Given the description of an element on the screen output the (x, y) to click on. 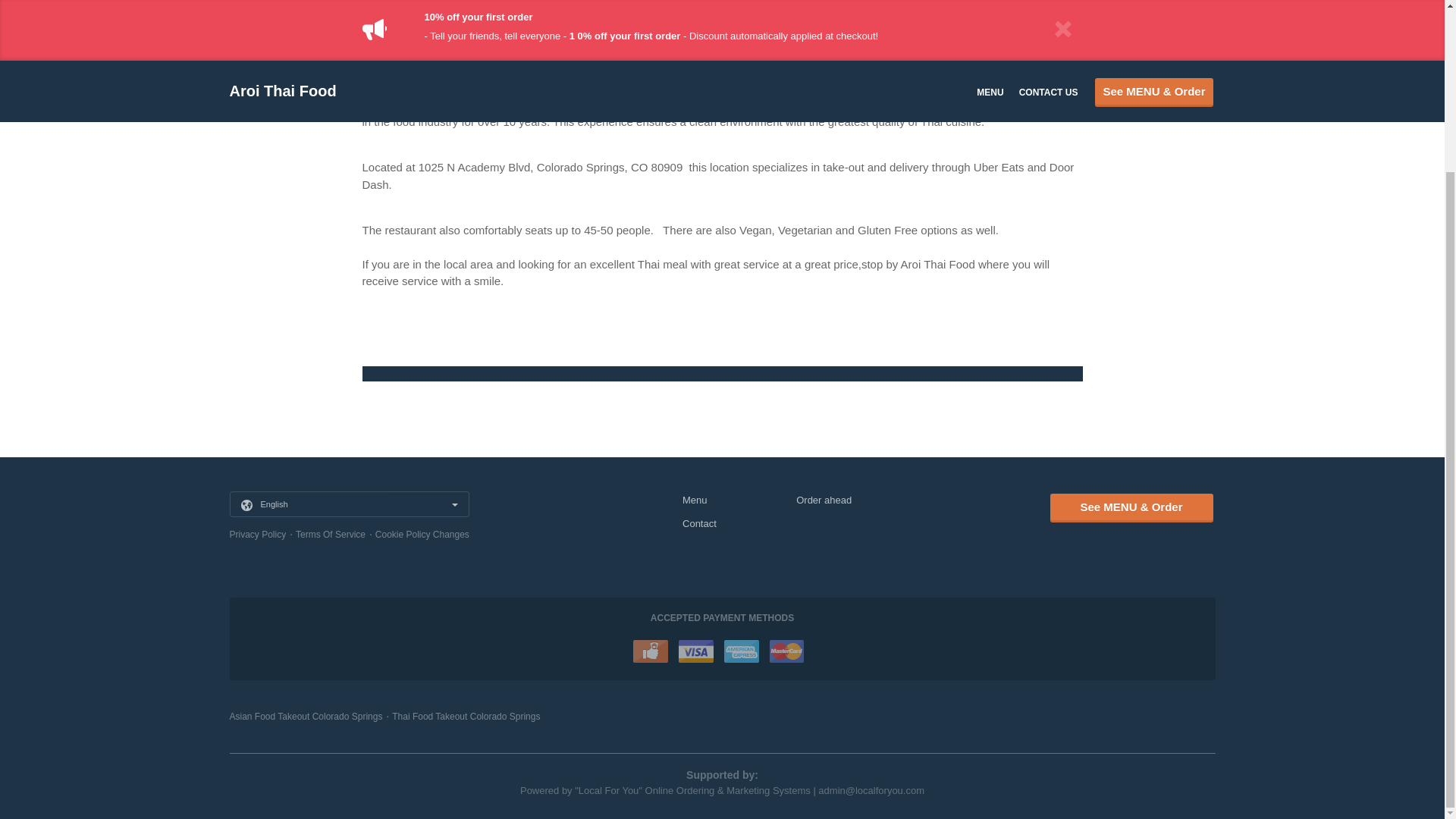
Order ahead (823, 499)
Privacy Policy (256, 533)
Thai Food Takeout Colorado Springs (465, 715)
Asian Food Takeout Colorado Springs (304, 715)
Contact (699, 523)
Terms Of Service (330, 533)
Cookie Policy Changes (421, 533)
Menu (694, 499)
